Given the description of an element on the screen output the (x, y) to click on. 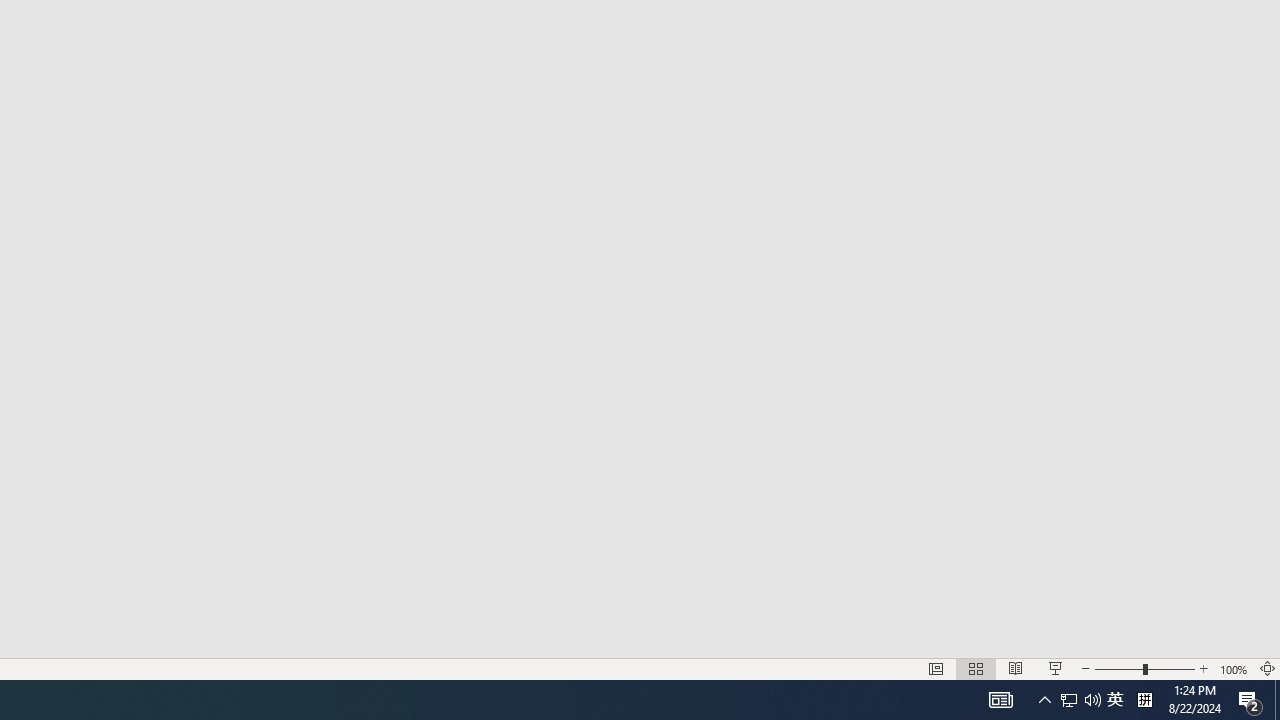
Q2790: 100% (1092, 699)
Zoom to Fit  (1267, 668)
Show desktop (1277, 699)
Zoom In (1204, 668)
